Given the description of an element on the screen output the (x, y) to click on. 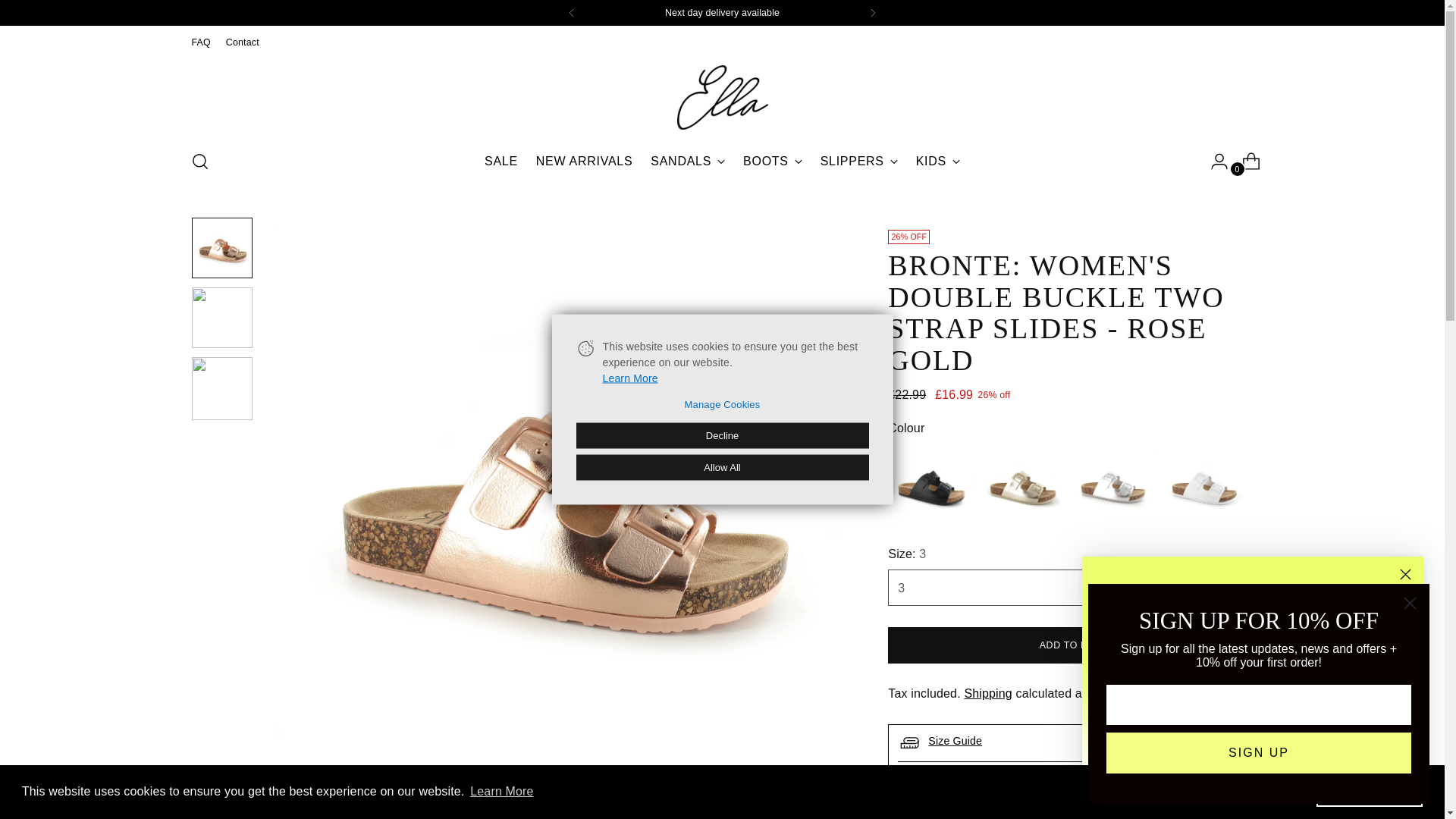
Got it! (1369, 791)
KIDS (721, 161)
0 (937, 161)
SANDALS (1245, 161)
SALE (687, 161)
Contact (501, 161)
SLIPPERS (996, 777)
Next (859, 161)
NEW ARRIVALS (872, 12)
Previous (583, 161)
Learn More (571, 12)
BOOTS (501, 791)
Contact (772, 161)
Size Guide (242, 41)
